Given the description of an element on the screen output the (x, y) to click on. 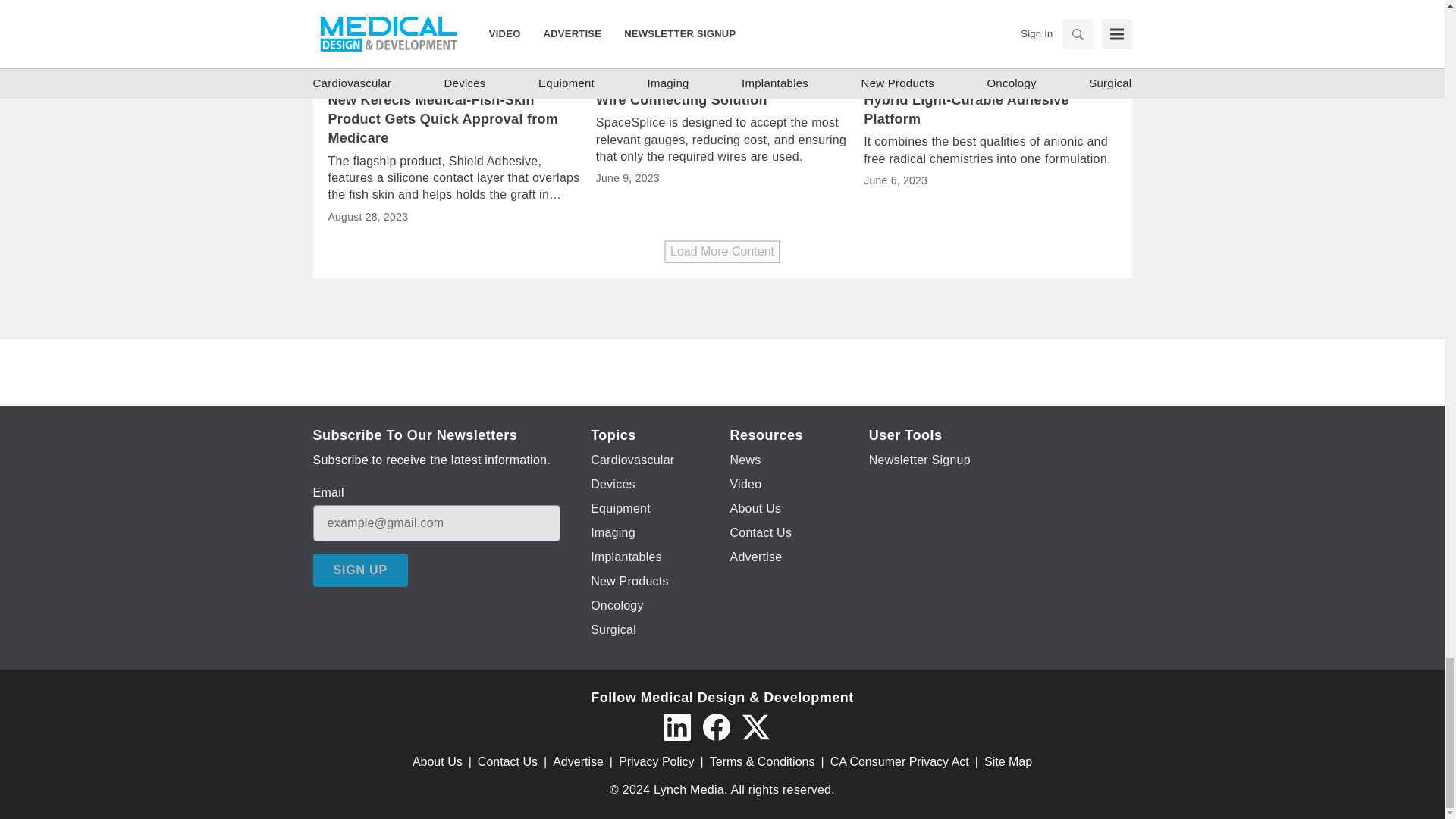
Facebook icon (715, 727)
Twitter X icon (754, 727)
LinkedIn icon (676, 727)
